Given the description of an element on the screen output the (x, y) to click on. 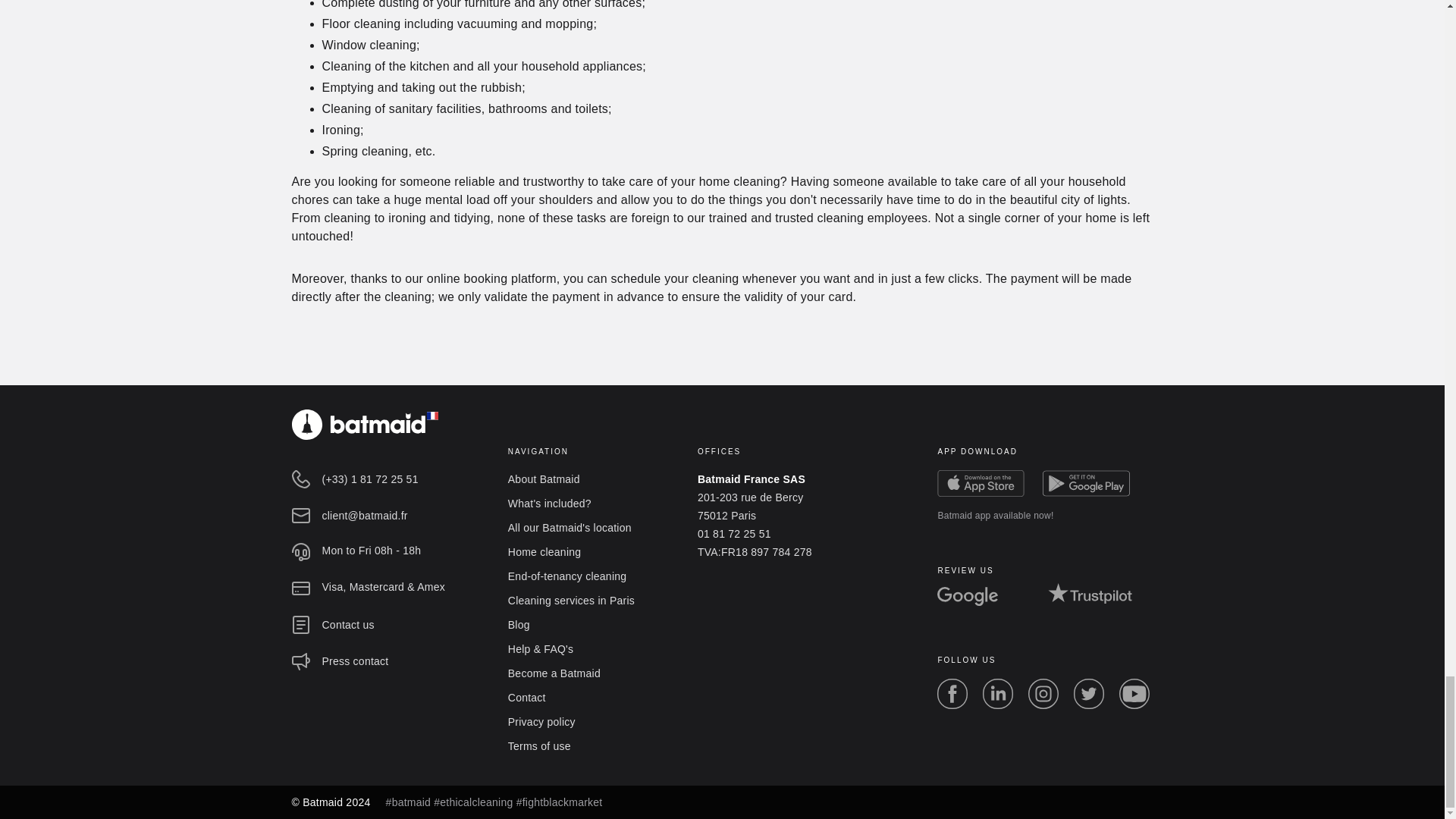
Contact (527, 697)
End-of-tenancy cleaning (567, 576)
About Batmaid (543, 479)
End-of-tenancy cleaning (567, 576)
All our Batmaid's locations (569, 527)
All our Batmaid's location (569, 527)
Contact us (347, 624)
What's included? (549, 503)
Become a Batmaid (553, 673)
Press contact (354, 660)
Privacy policy (541, 721)
Home cleaning (544, 551)
What's included? (549, 503)
Home cleaning (544, 551)
Terms of use (539, 746)
